Given the description of an element on the screen output the (x, y) to click on. 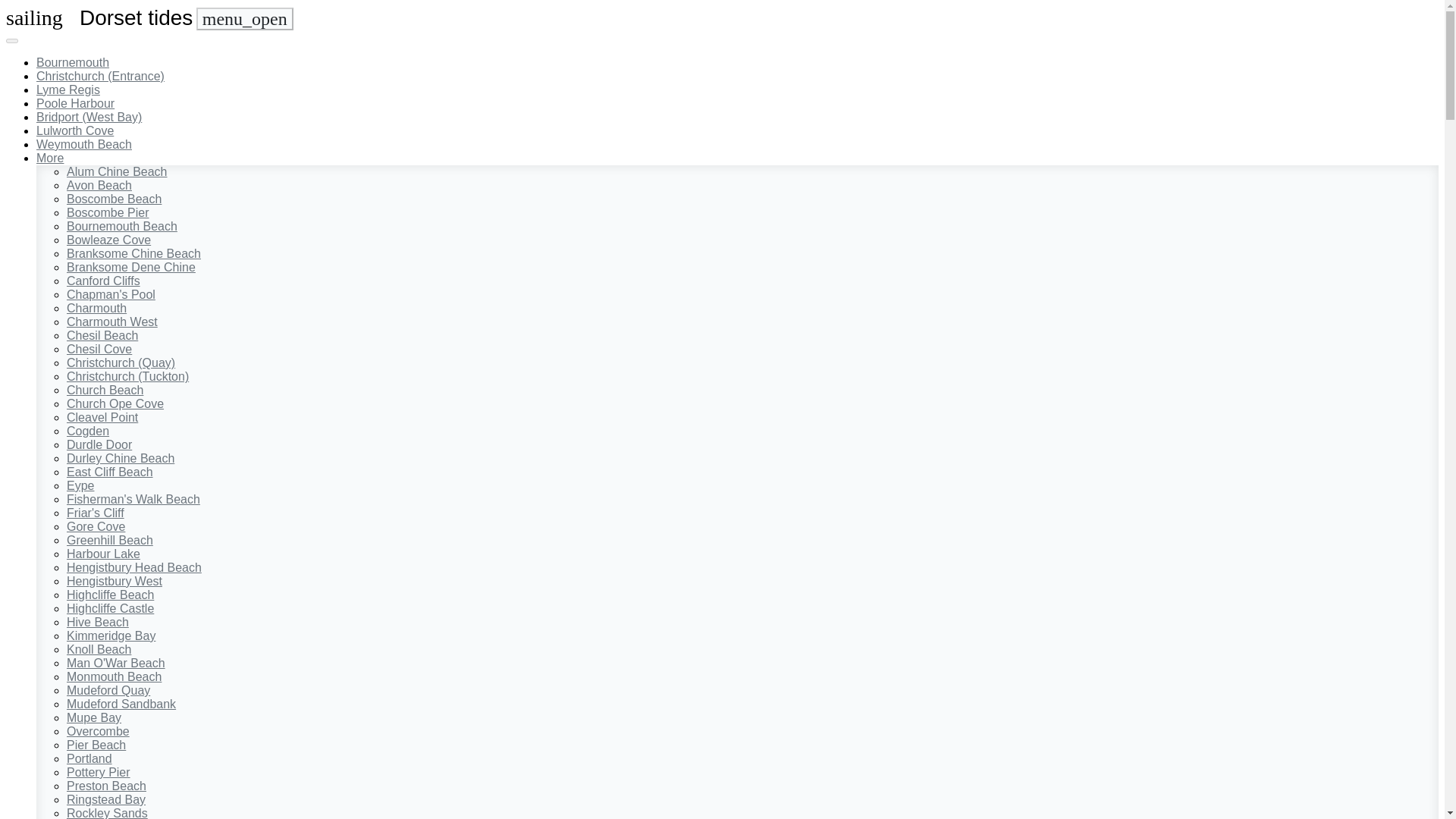
Bournemouth Beach (121, 226)
Harbour Lake (102, 553)
Charmouth West (111, 321)
Weymouth Beach (84, 144)
East Cliff Beach (109, 472)
Poole Harbour (75, 103)
Chesil Cove (99, 349)
Cleavel Point (102, 417)
Chesil Beach (102, 335)
Hengistbury Head Beach (134, 567)
Friar's Cliff (94, 512)
Branksome Dene Chine (130, 267)
Fisherman's Walk Beach (133, 499)
Lulworth Cove (74, 130)
Avon Beach (99, 185)
